Given the description of an element on the screen output the (x, y) to click on. 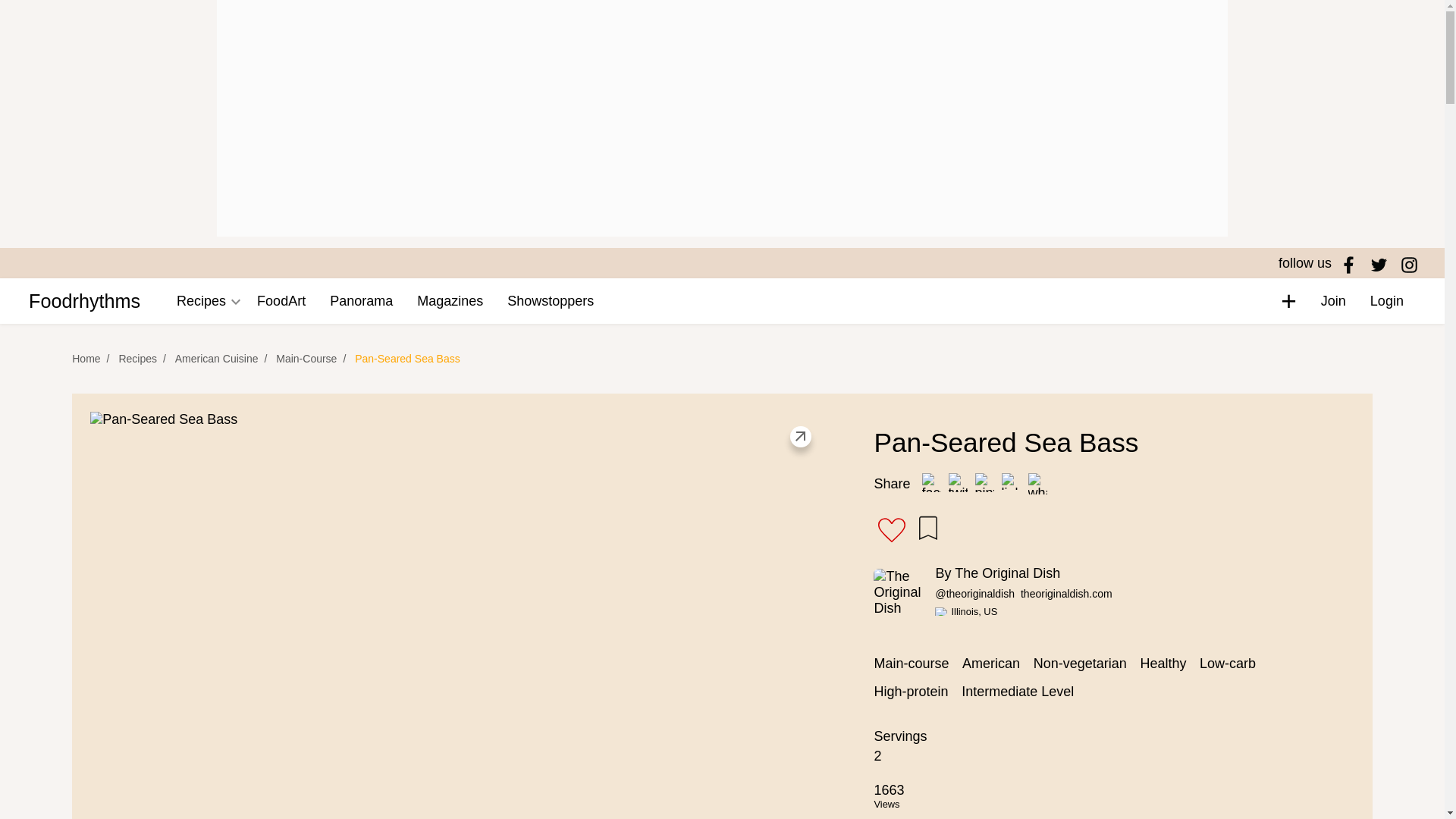
Recipes (201, 300)
FoodArt (280, 300)
Magazines (449, 300)
Panorama (360, 300)
Join (1333, 300)
follow us on twitter (1379, 264)
follow us on facebook (1348, 264)
Showstoppers (550, 300)
Login (1386, 300)
follow us on instagram (1408, 264)
Foodrhythms (84, 300)
